Given the description of an element on the screen output the (x, y) to click on. 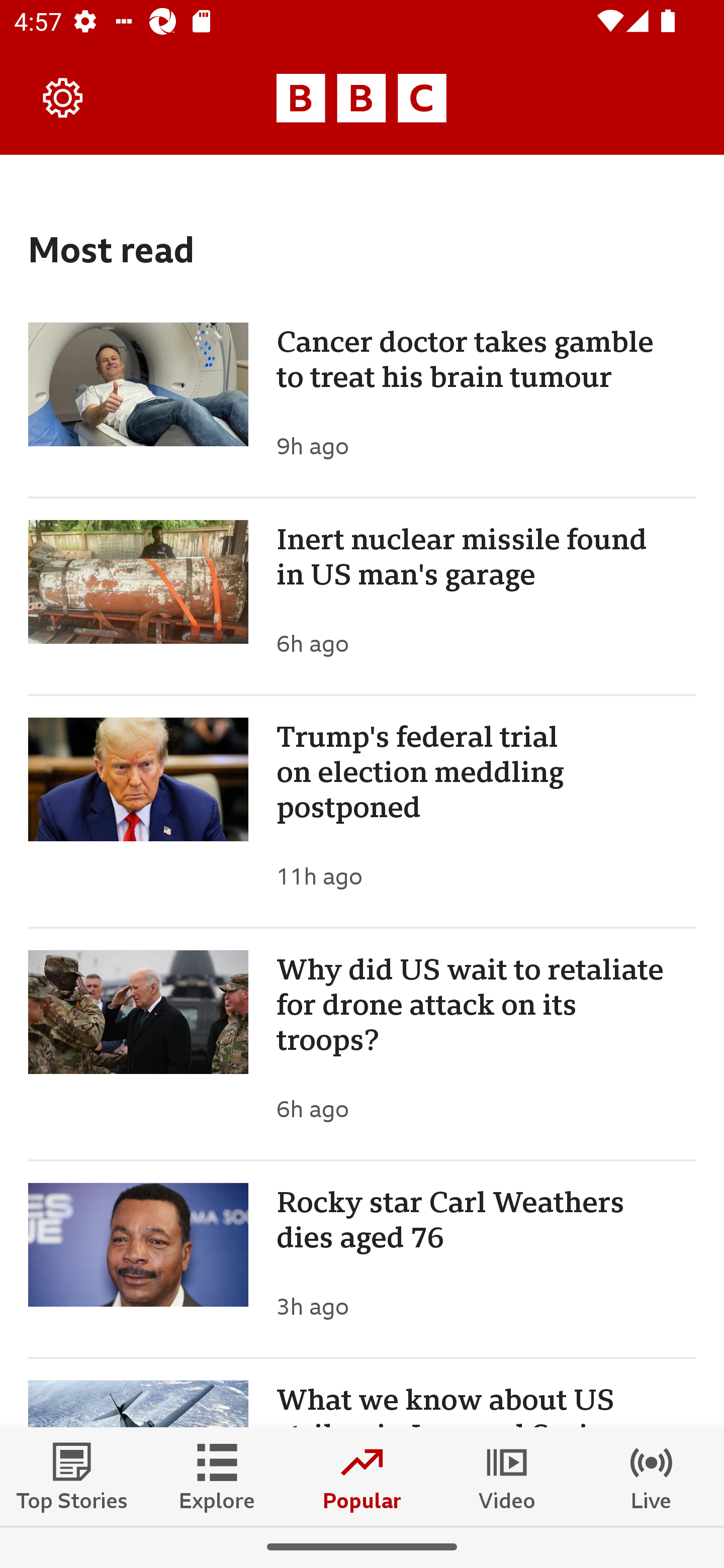
Settings (63, 97)
Top Stories (72, 1475)
Explore (216, 1475)
Video (506, 1475)
Live (651, 1475)
